Given the description of an element on the screen output the (x, y) to click on. 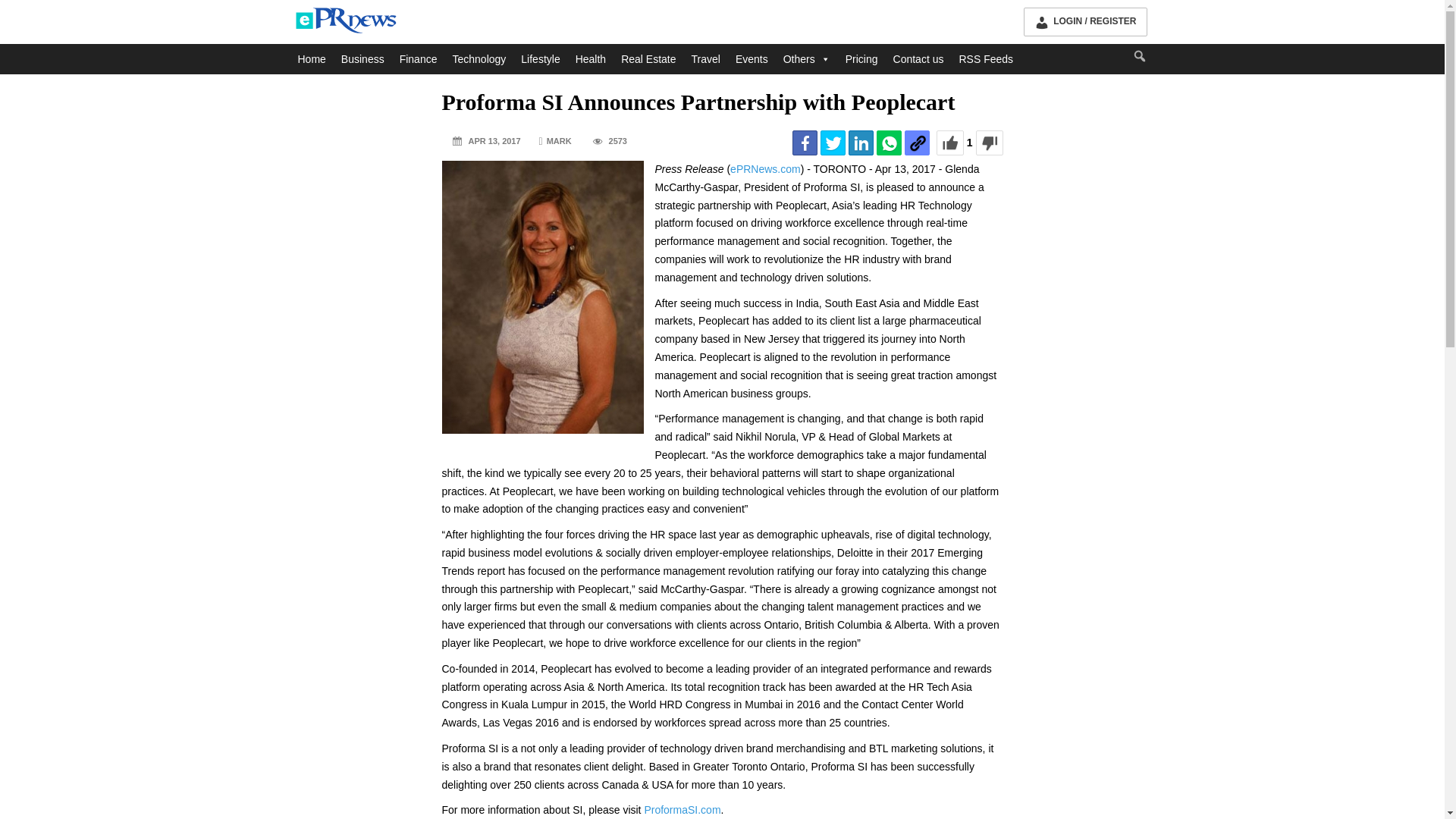
Contact us (918, 59)
Health (589, 59)
Others (807, 59)
Share on Linkedin (860, 142)
Copy Link (917, 142)
Downvote (989, 142)
Lifestyle (540, 59)
ProformaSI.com (681, 809)
Share on Twitter (833, 142)
Technology (478, 59)
Travel (706, 59)
Upvote (949, 142)
Share on Whatsapp (888, 142)
Business (362, 59)
Pricing (861, 59)
